Given the description of an element on the screen output the (x, y) to click on. 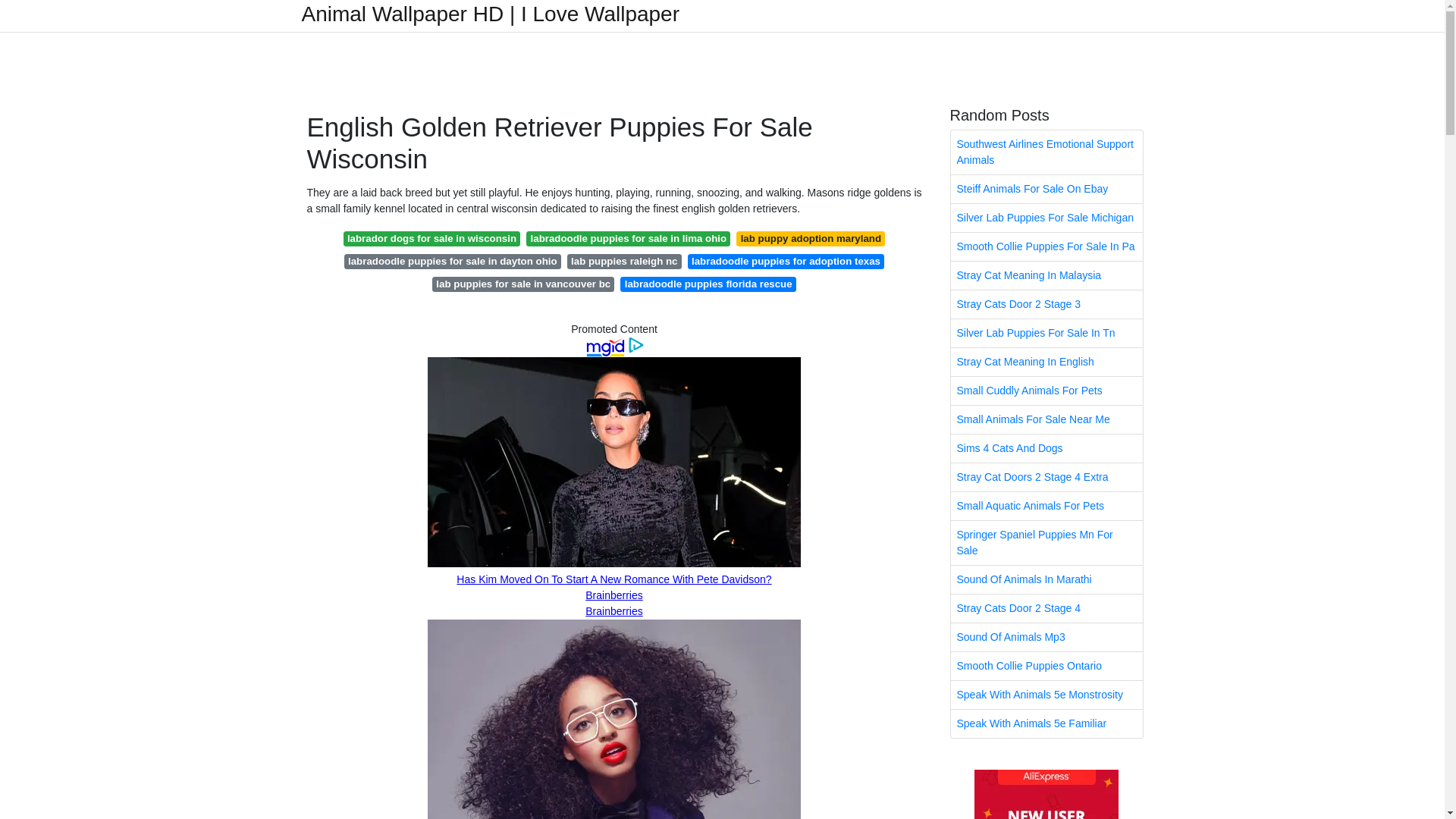
Stray Cat Meaning In English (1046, 361)
labradoodle puppies florida rescue (708, 283)
lab puppies raleigh nc (624, 261)
Steiff Animals For Sale On Ebay (1046, 189)
labrador dogs for sale in wisconsin (432, 238)
Southwest Airlines Emotional Support Animals (1046, 152)
labradoodle puppies for sale in dayton ohio (451, 261)
Stray Cats Door 2 Stage 3 (1046, 304)
Silver Lab Puppies For Sale In Tn (1046, 333)
Small Cuddly Animals For Pets (1046, 390)
Stray Cat Meaning In Malaysia (1046, 275)
Small Animals For Sale Near Me (1046, 419)
labradoodle puppies for sale in lima ohio (627, 238)
lab puppy adoption maryland (810, 238)
labradoodle puppies for adoption texas (786, 261)
